Given the description of an element on the screen output the (x, y) to click on. 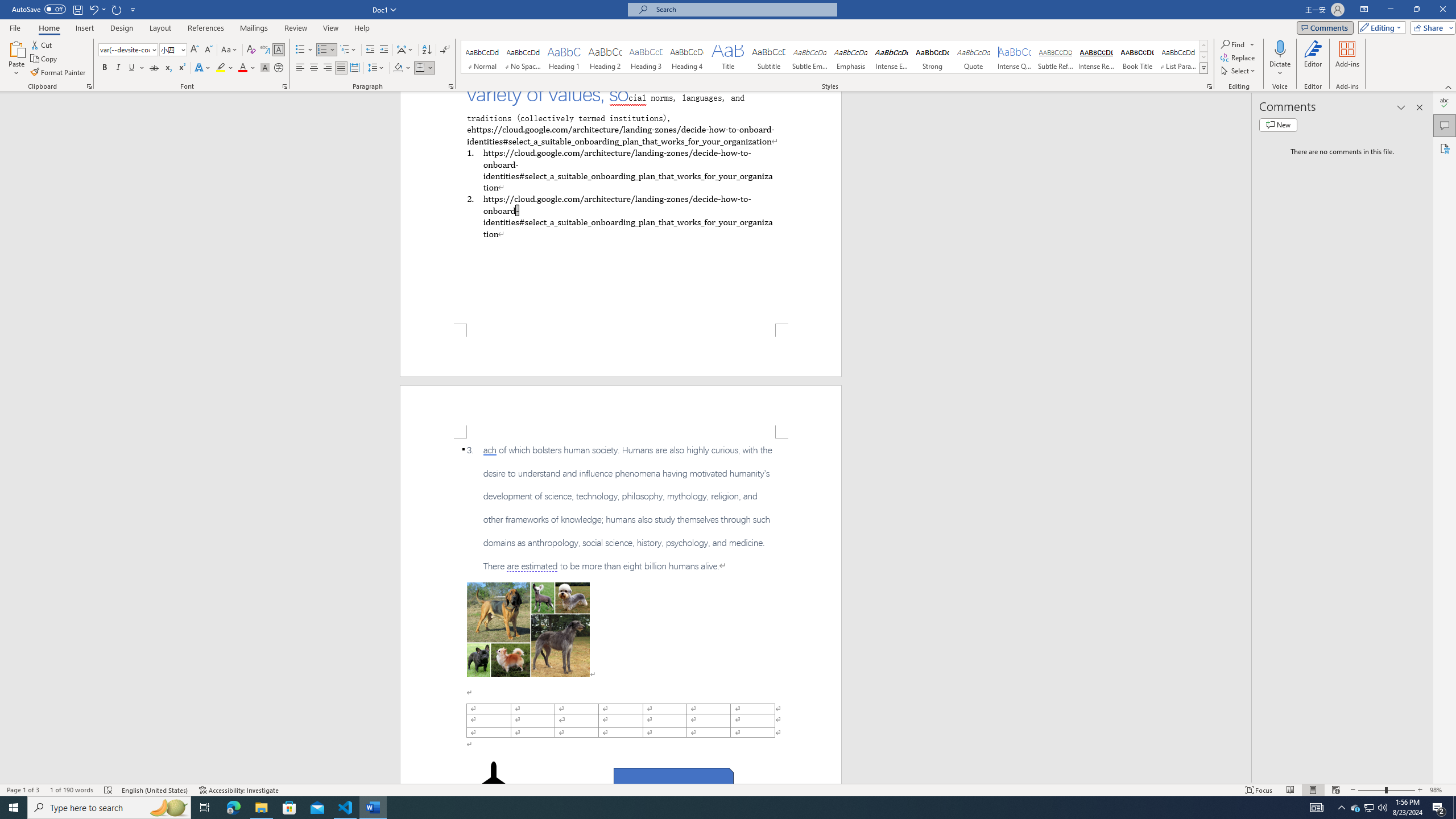
Bullets (304, 49)
Book Title (1136, 56)
Class: NetUIImage (1204, 68)
Show/Hide Editing Marks (444, 49)
Line and Paragraph Spacing (376, 67)
Font Color Automatic (241, 67)
New comment (1278, 124)
Class: NetUIScrollBar (1245, 437)
Character Border (278, 49)
Open (182, 49)
Numbering (326, 49)
Footer -Section 1- (620, 349)
AutoSave (38, 9)
3. (620, 507)
